Given the description of an element on the screen output the (x, y) to click on. 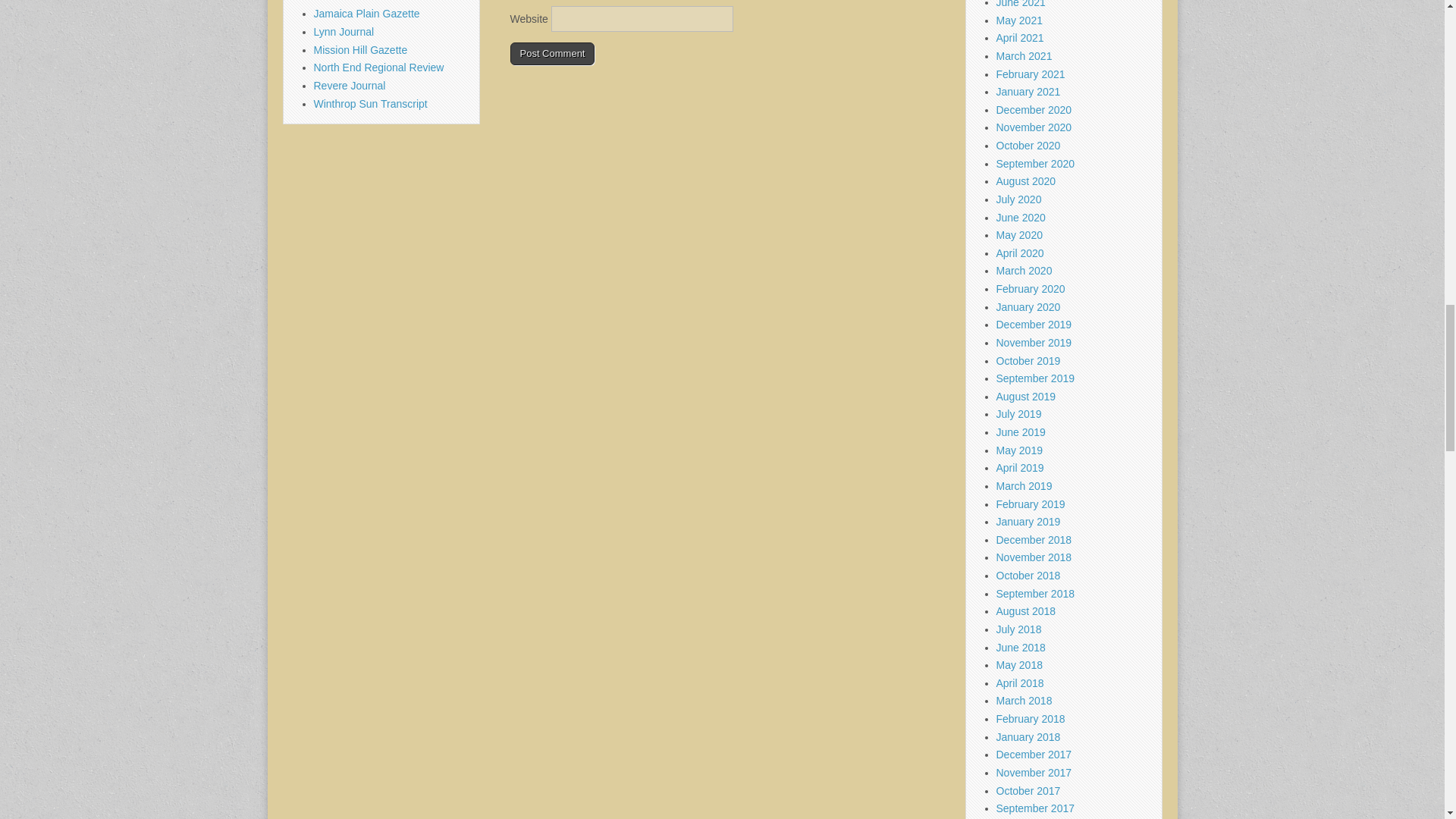
Jamaica Plain Gazette (367, 13)
Post Comment (551, 53)
Post Comment (551, 53)
Lynn Journal (344, 31)
East Boston Times Free Press (385, 1)
